Given the description of an element on the screen output the (x, y) to click on. 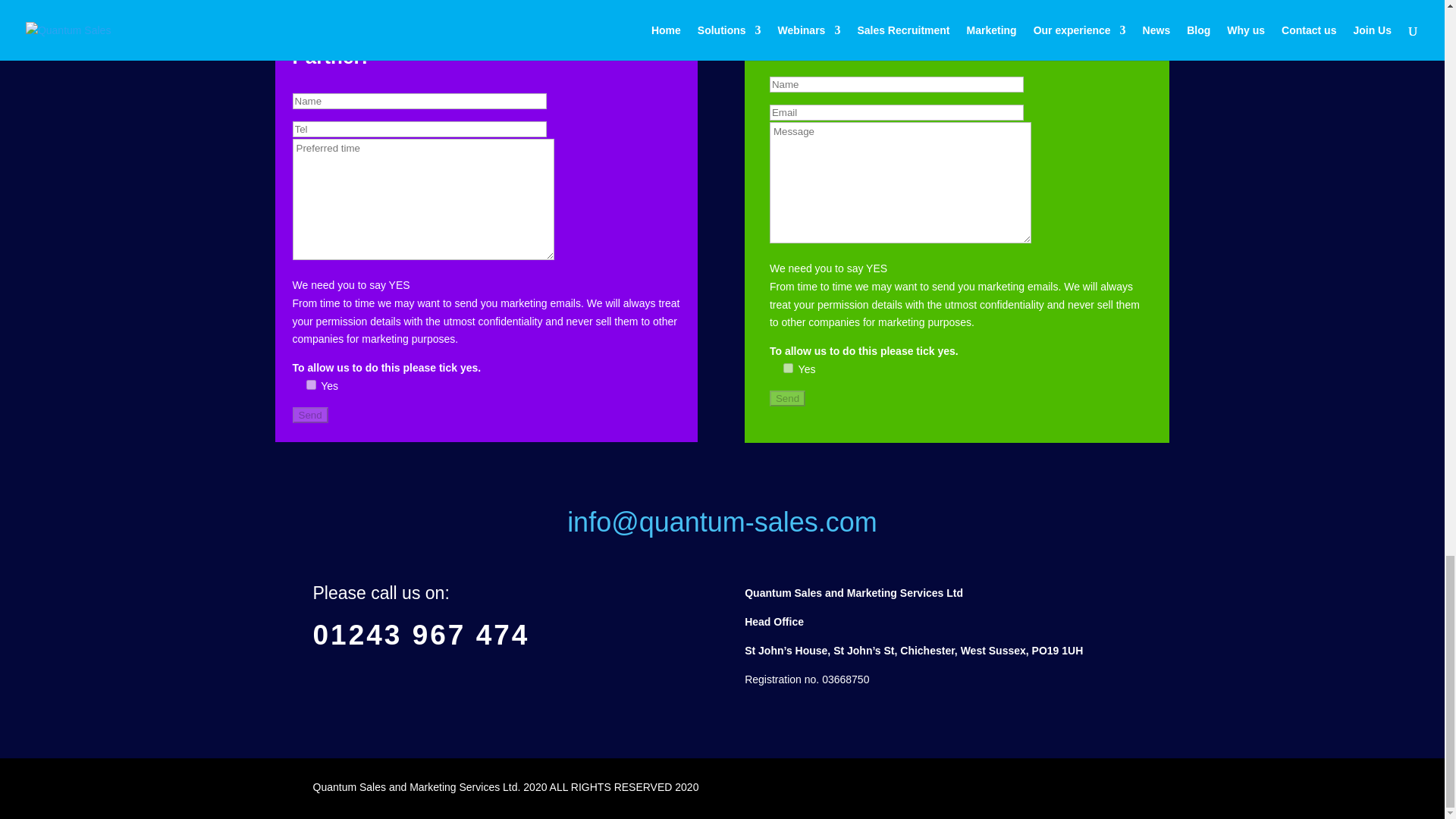
Send (787, 398)
Yes (310, 384)
Send (787, 398)
Send (310, 415)
Send (310, 415)
Yes (788, 368)
